Given the description of an element on the screen output the (x, y) to click on. 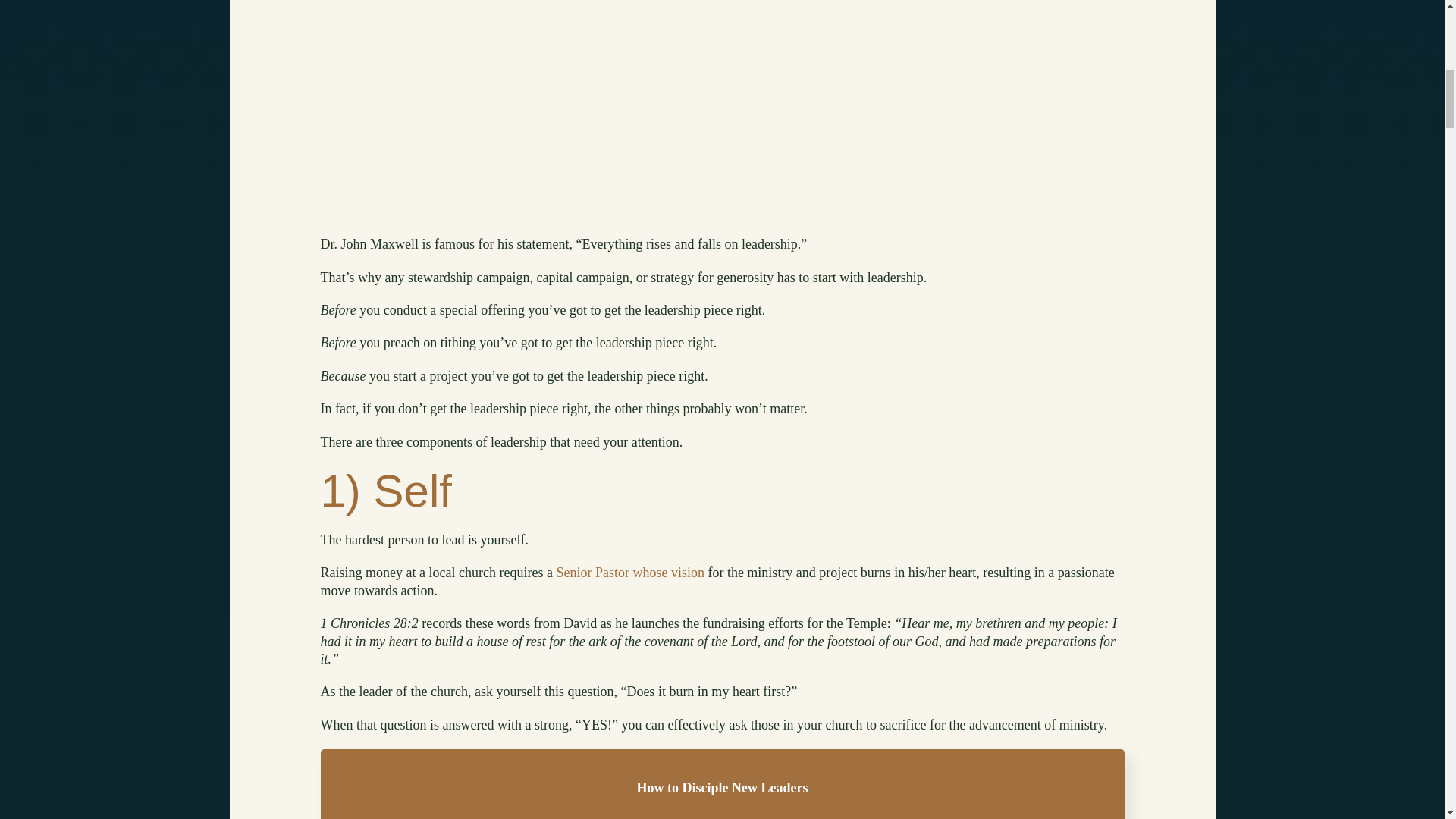
Senior Pastor whose vision (630, 572)
image-asset (722, 72)
How to Disciple New Leaders (722, 787)
